Given the description of an element on the screen output the (x, y) to click on. 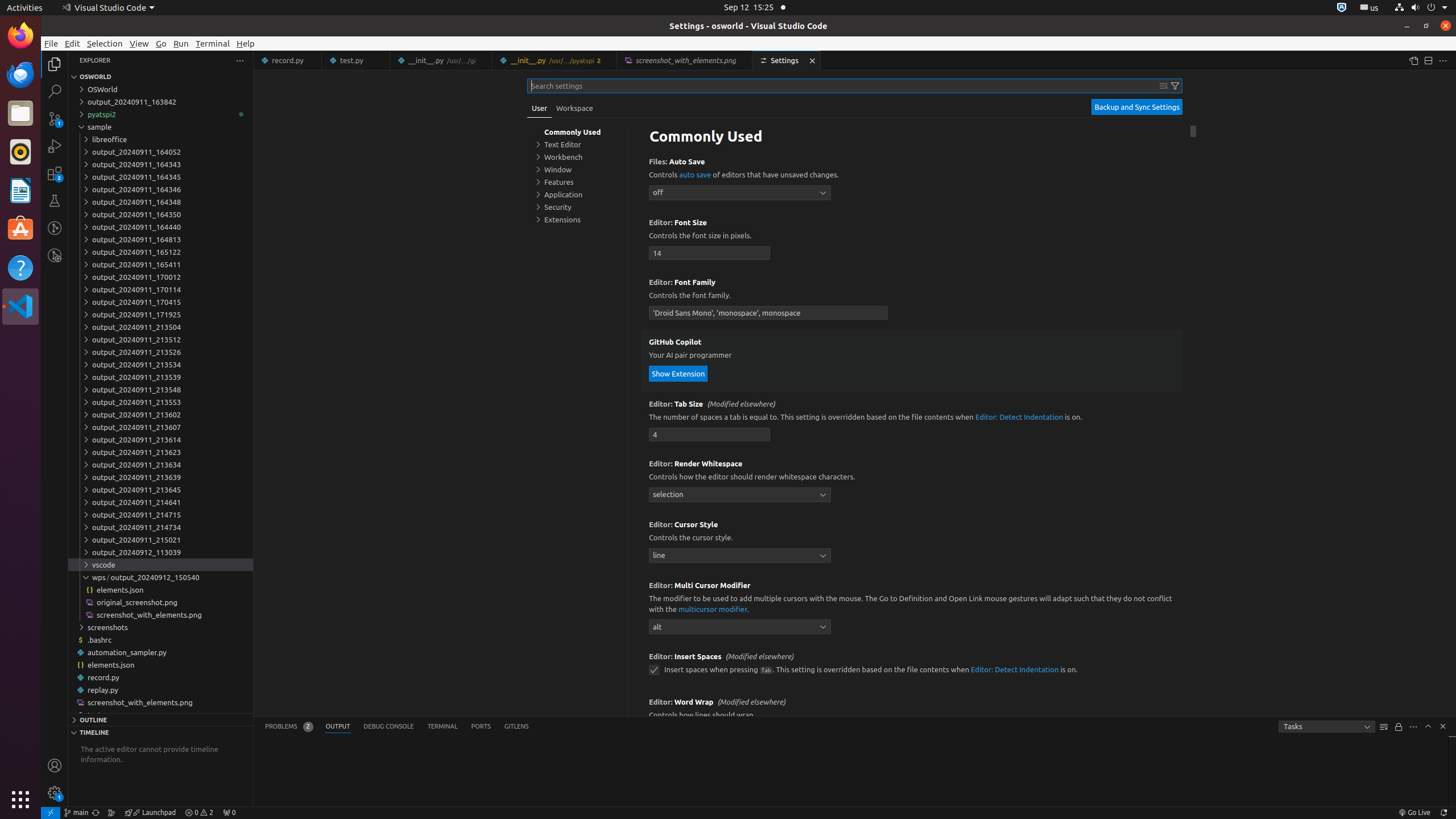
output_20240911_164813 Element type: tree-item (160, 239)
Clear Output Element type: push-button (1383, 726)
Edit Element type: push-button (72, 43)
OSWorld Element type: tree-item (160, 89)
